Given the description of an element on the screen output the (x, y) to click on. 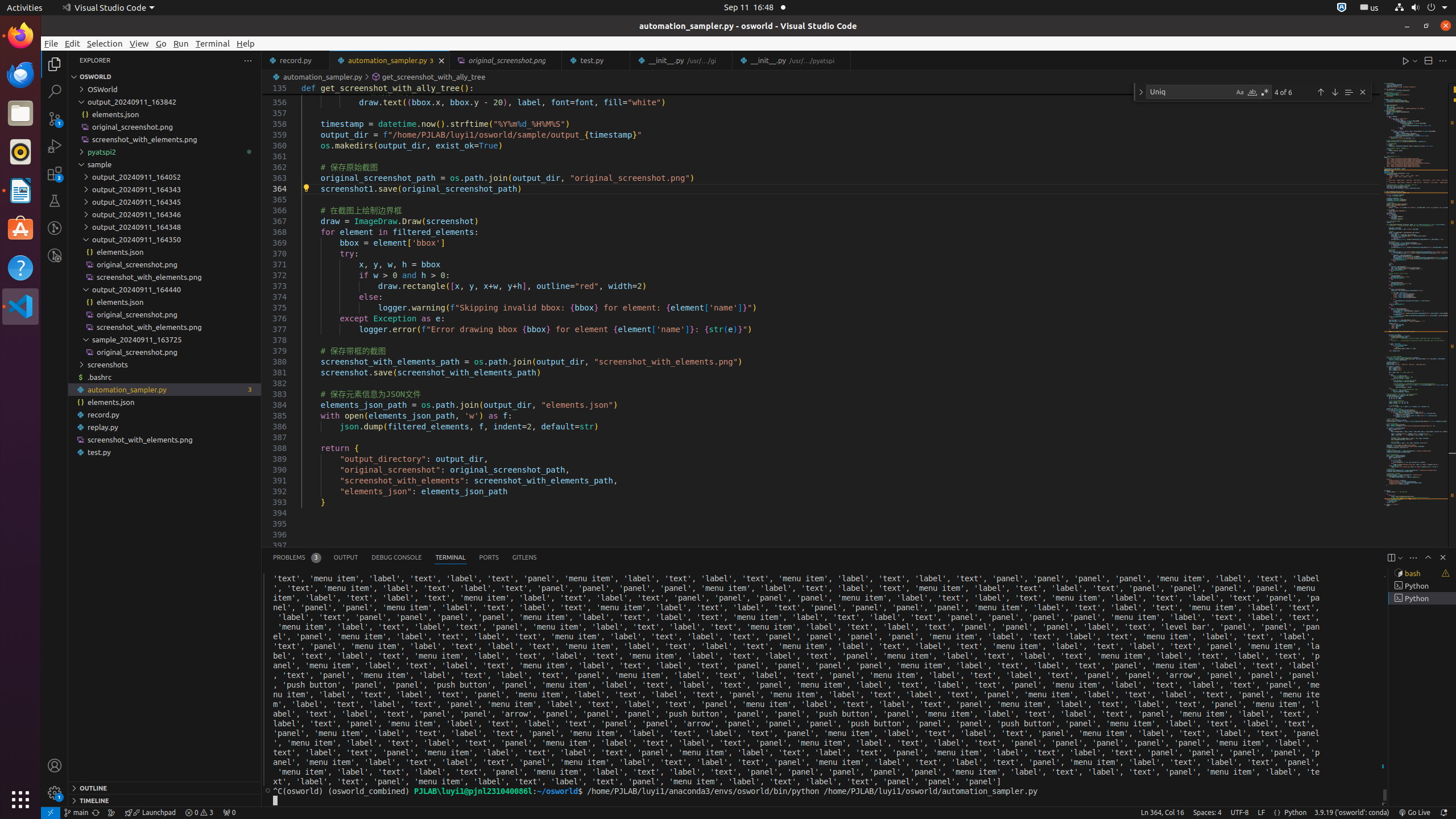
Manage - New Code update available. Element type: push-button (54, 792)
Notifications Element type: push-button (1443, 812)
View Element type: push-button (139, 43)
GitLens Element type: page-tab (524, 557)
Terminal (Ctrl+`) Element type: page-tab (450, 557)
